Given the description of an element on the screen output the (x, y) to click on. 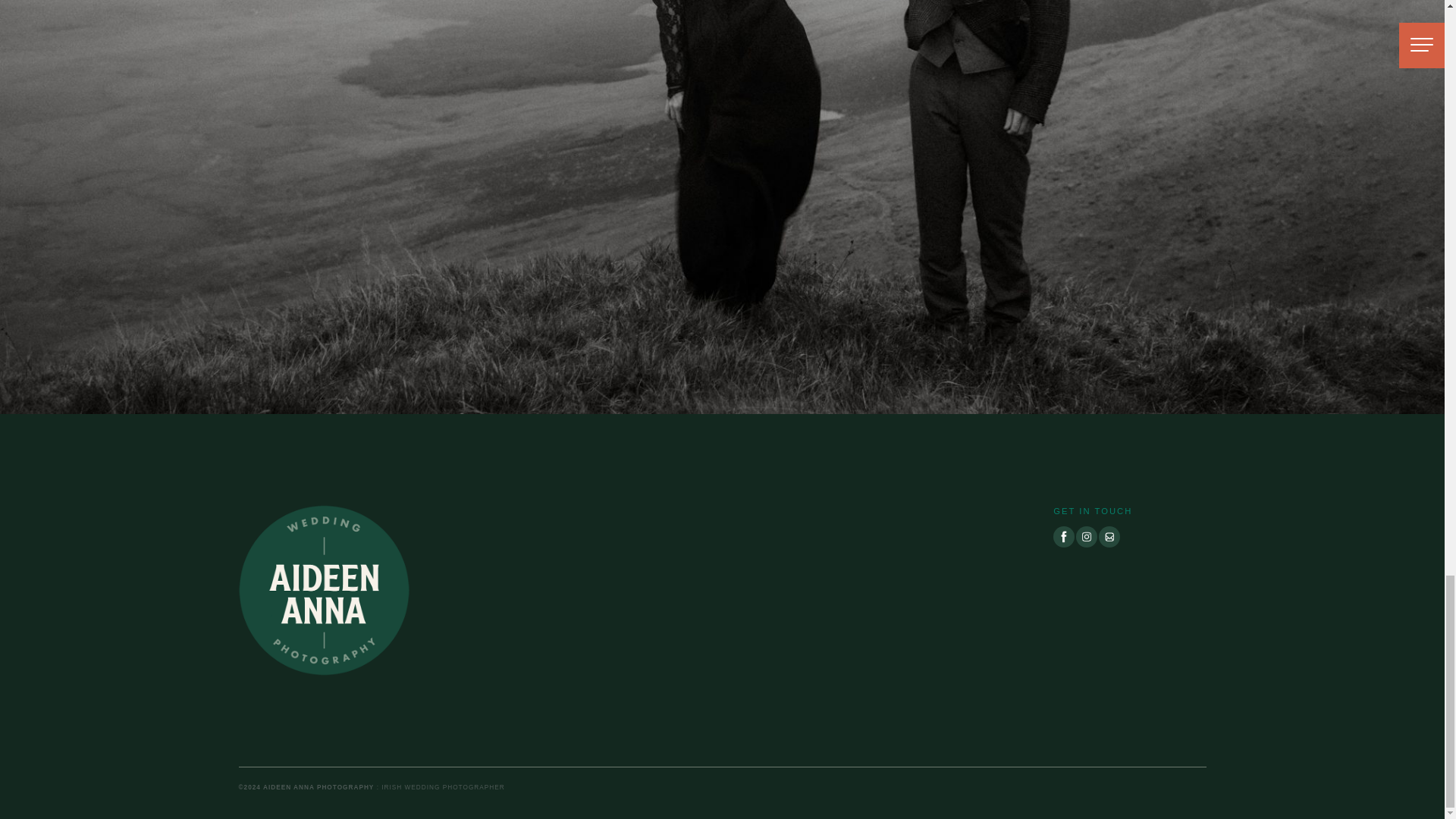
Aideen Anna Photography (323, 589)
